Given the description of an element on the screen output the (x, y) to click on. 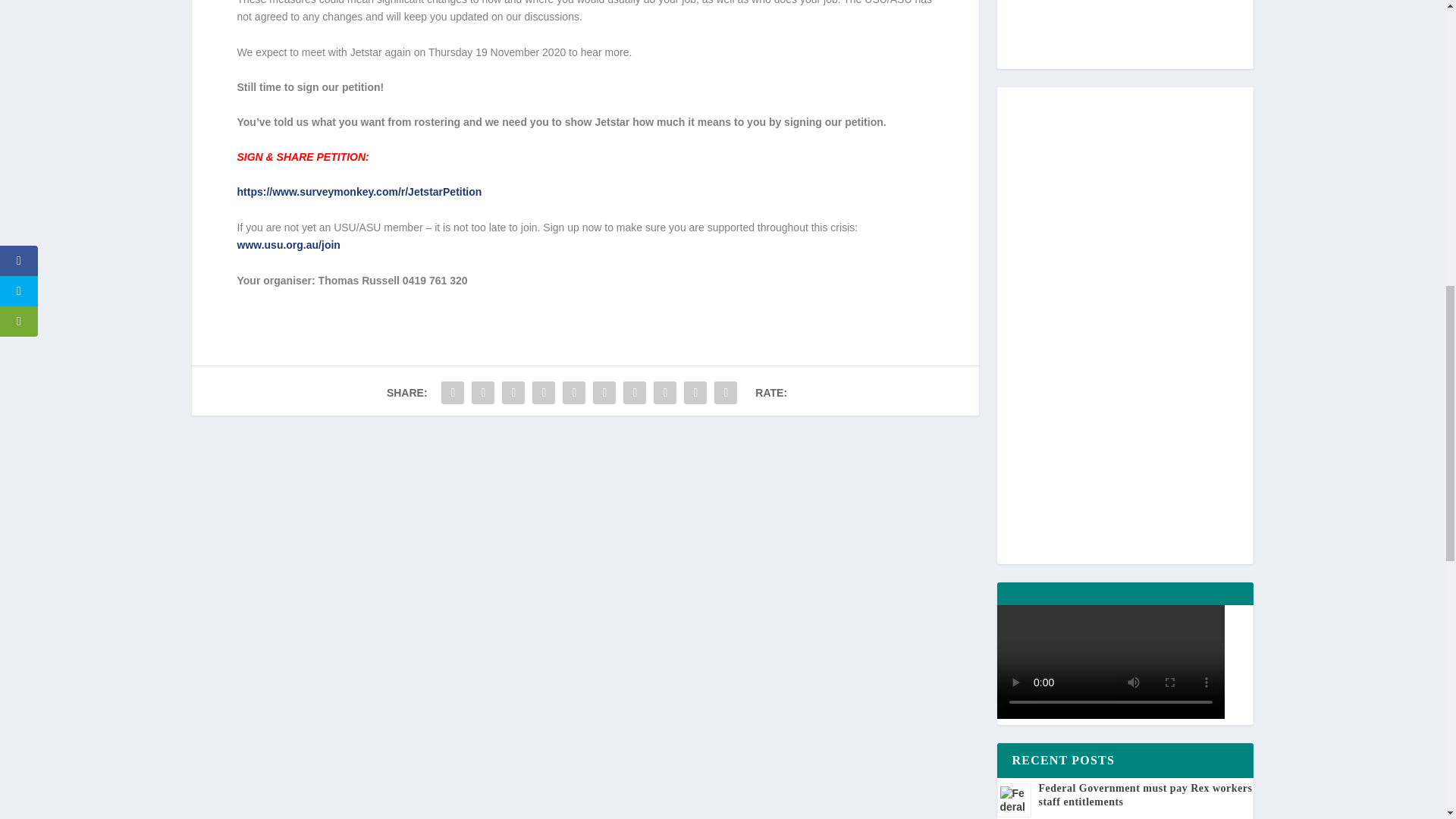
Share "Jetstar rostering update" via Buffer (634, 392)
Share "Jetstar rostering update" via Stumbleupon (664, 392)
Share "Jetstar rostering update" via LinkedIn (604, 392)
Share "Jetstar rostering update" via Print (725, 392)
Share "Jetstar rostering update" via Email (694, 392)
Share "Jetstar rostering update" via Twitter (482, 392)
Share "Jetstar rostering update" via Pinterest (574, 392)
Share "Jetstar rostering update" via Tumblr (543, 392)
Share "Jetstar rostering update" via Facebook (452, 392)
